Given the description of an element on the screen output the (x, y) to click on. 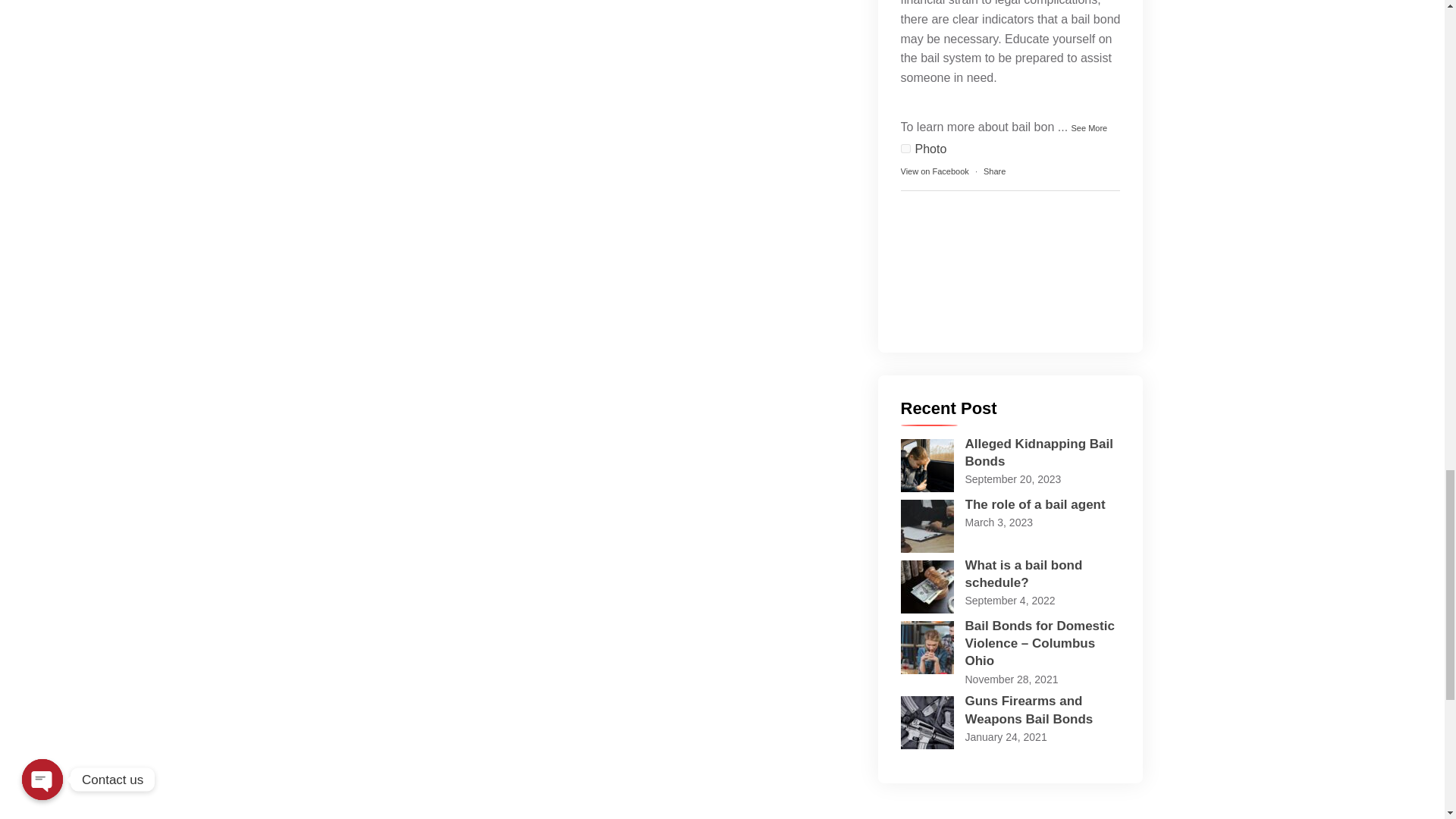
Likebox Iframe (1011, 263)
Share (995, 171)
View on Facebook (935, 171)
